Given the description of an element on the screen output the (x, y) to click on. 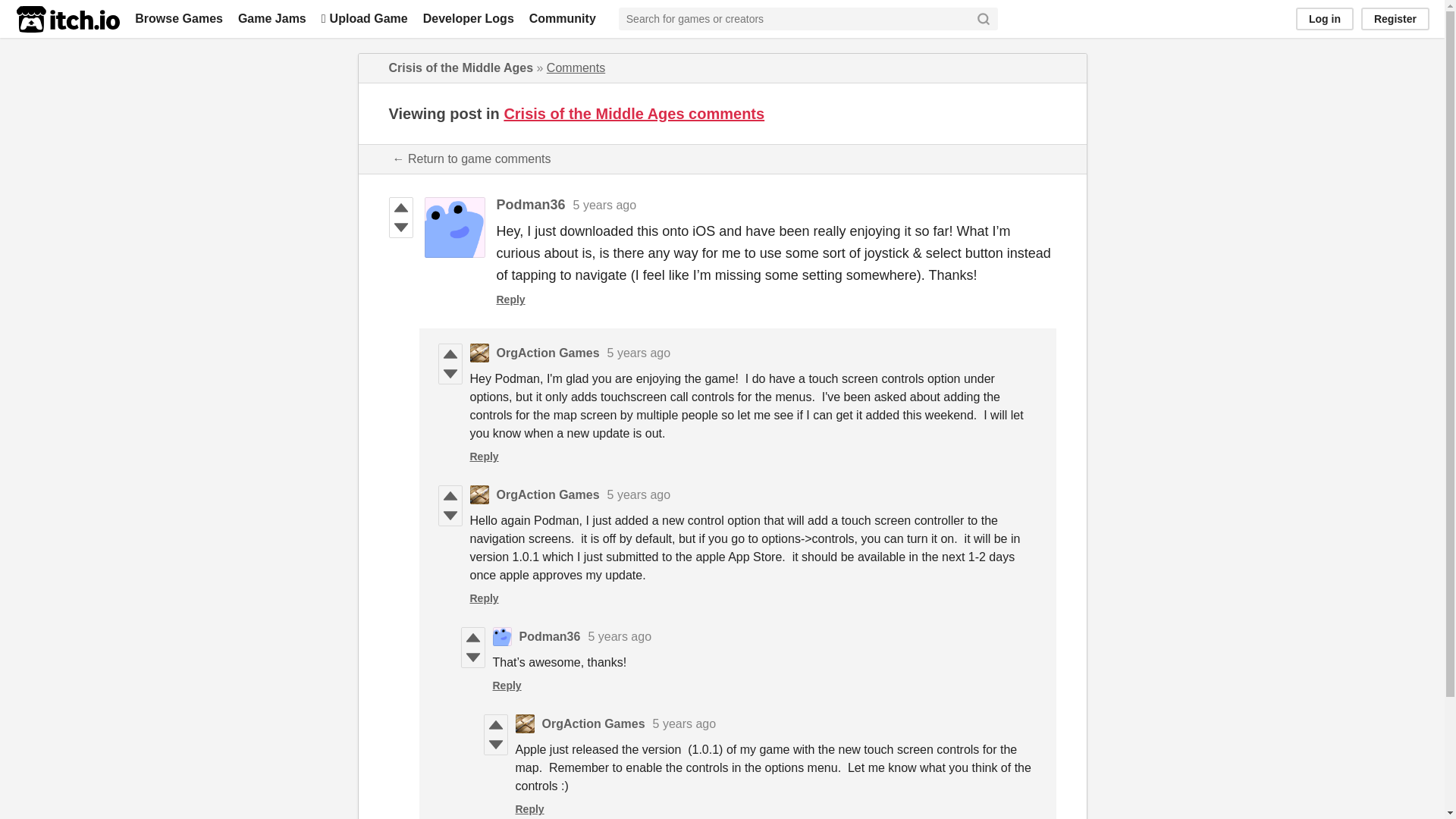
Reply (484, 456)
Log in (1324, 18)
Crisis of the Middle Ages comments (633, 112)
OrgAction Games (547, 352)
Reply (510, 299)
OrgAction Games (547, 494)
Vote up (472, 637)
Game Jams (271, 18)
Upload Game (364, 18)
Vote down (449, 373)
